Given the description of an element on the screen output the (x, y) to click on. 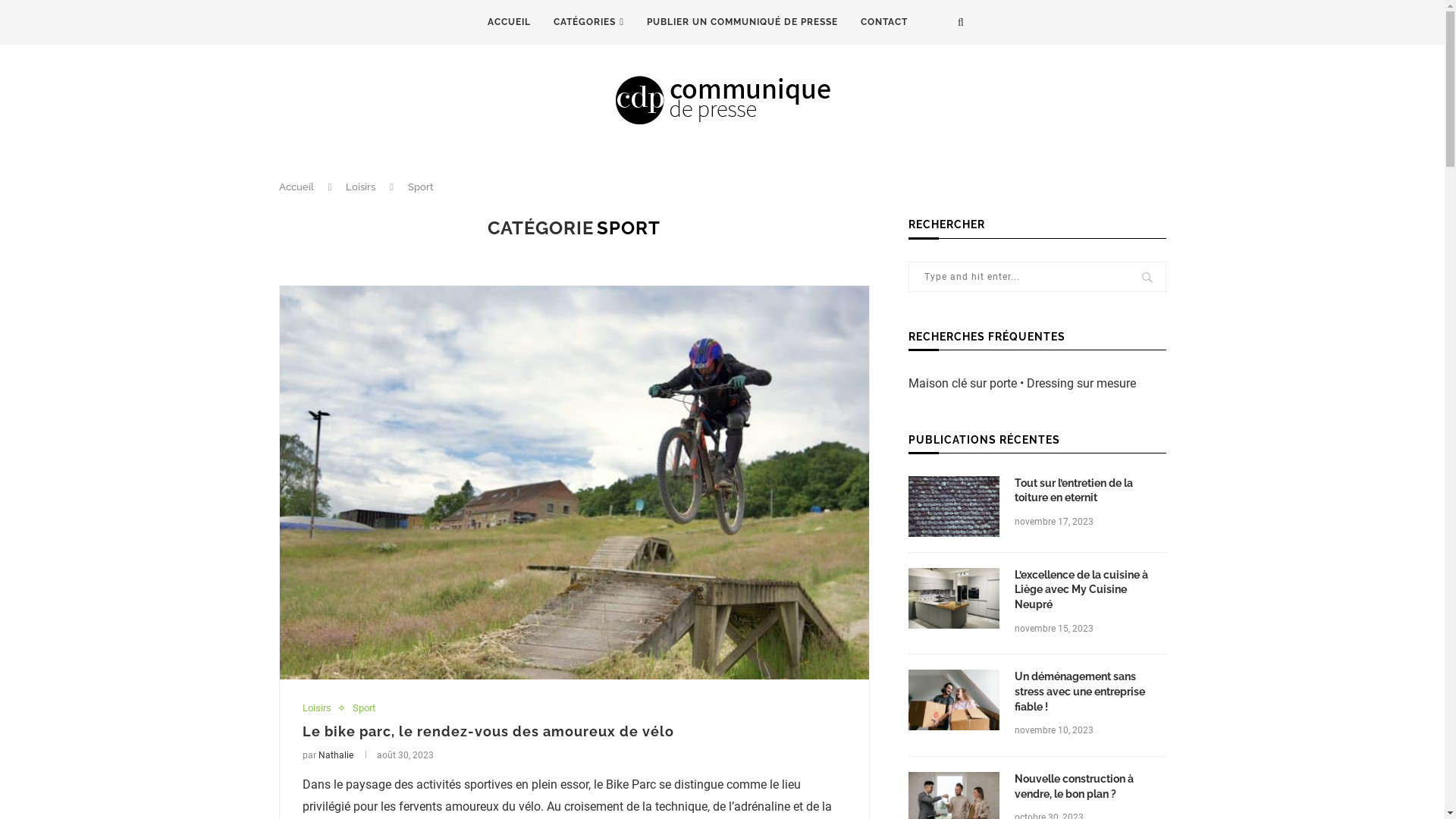
CONTACT Element type: text (884, 22)
Dressing sur mesure Element type: text (1080, 383)
ACCUEIL Element type: text (509, 22)
Nathalie Element type: text (335, 754)
Sport Element type: text (362, 708)
Loisirs Element type: text (319, 708)
Accueil Element type: text (296, 186)
Loisirs Element type: text (360, 186)
